Given the description of an element on the screen output the (x, y) to click on. 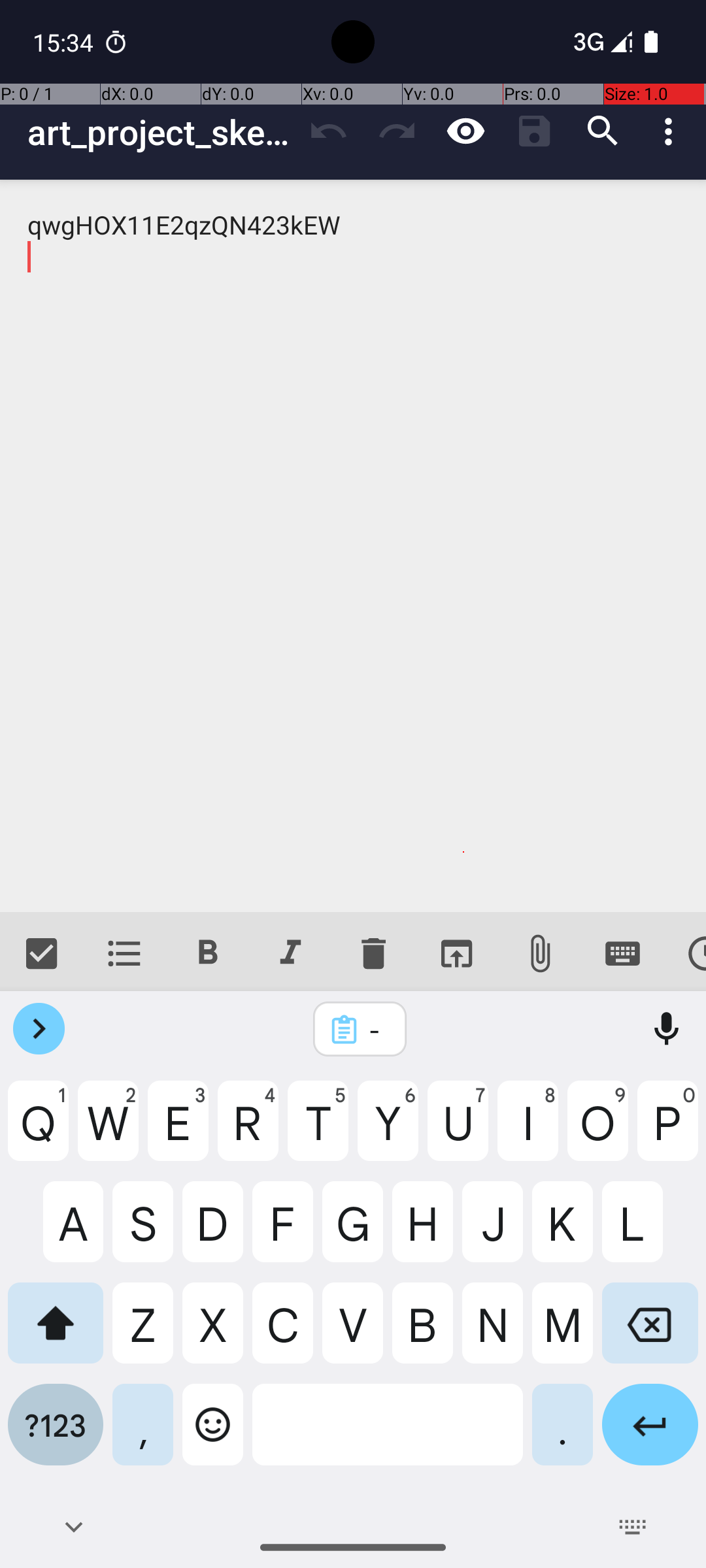
art_project_sketches_2023_01_11 Element type: android.widget.TextView (160, 131)
qwgHOX11E2qzQN423kEW
 Element type: android.widget.EditText (353, 545)
